Given the description of an element on the screen output the (x, y) to click on. 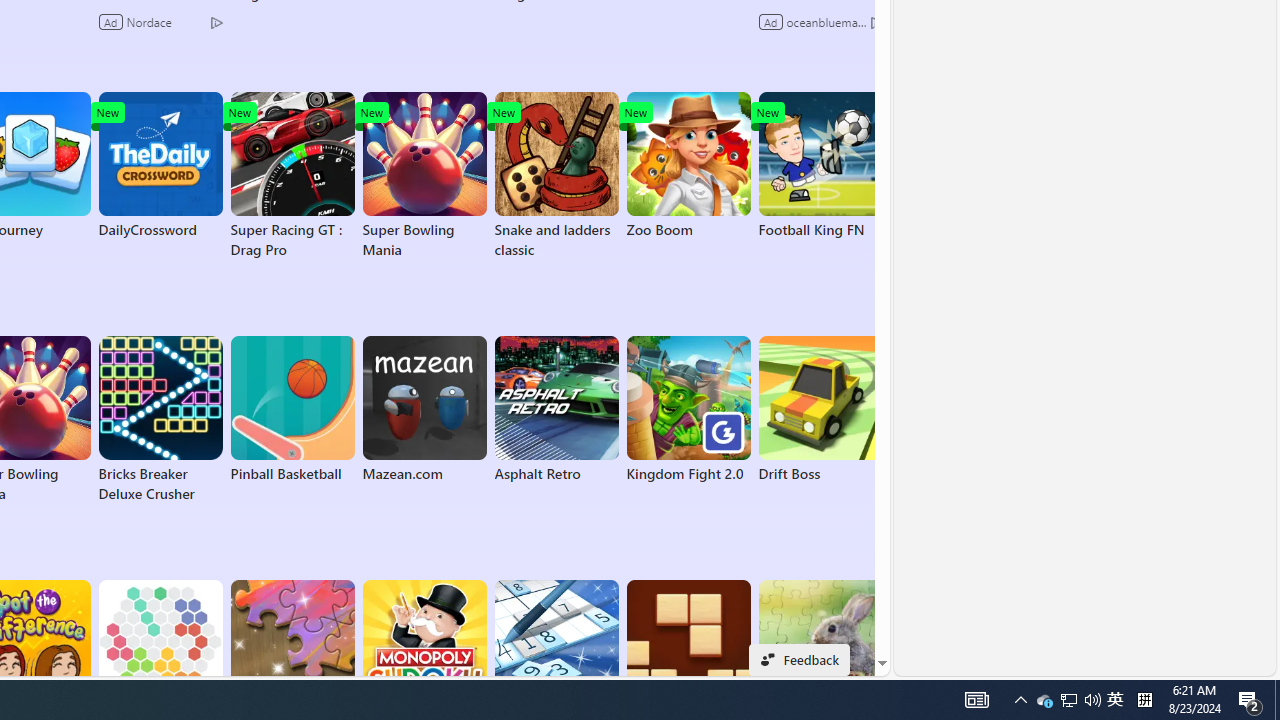
Super Bowling Mania (424, 175)
